Given the description of an element on the screen output the (x, y) to click on. 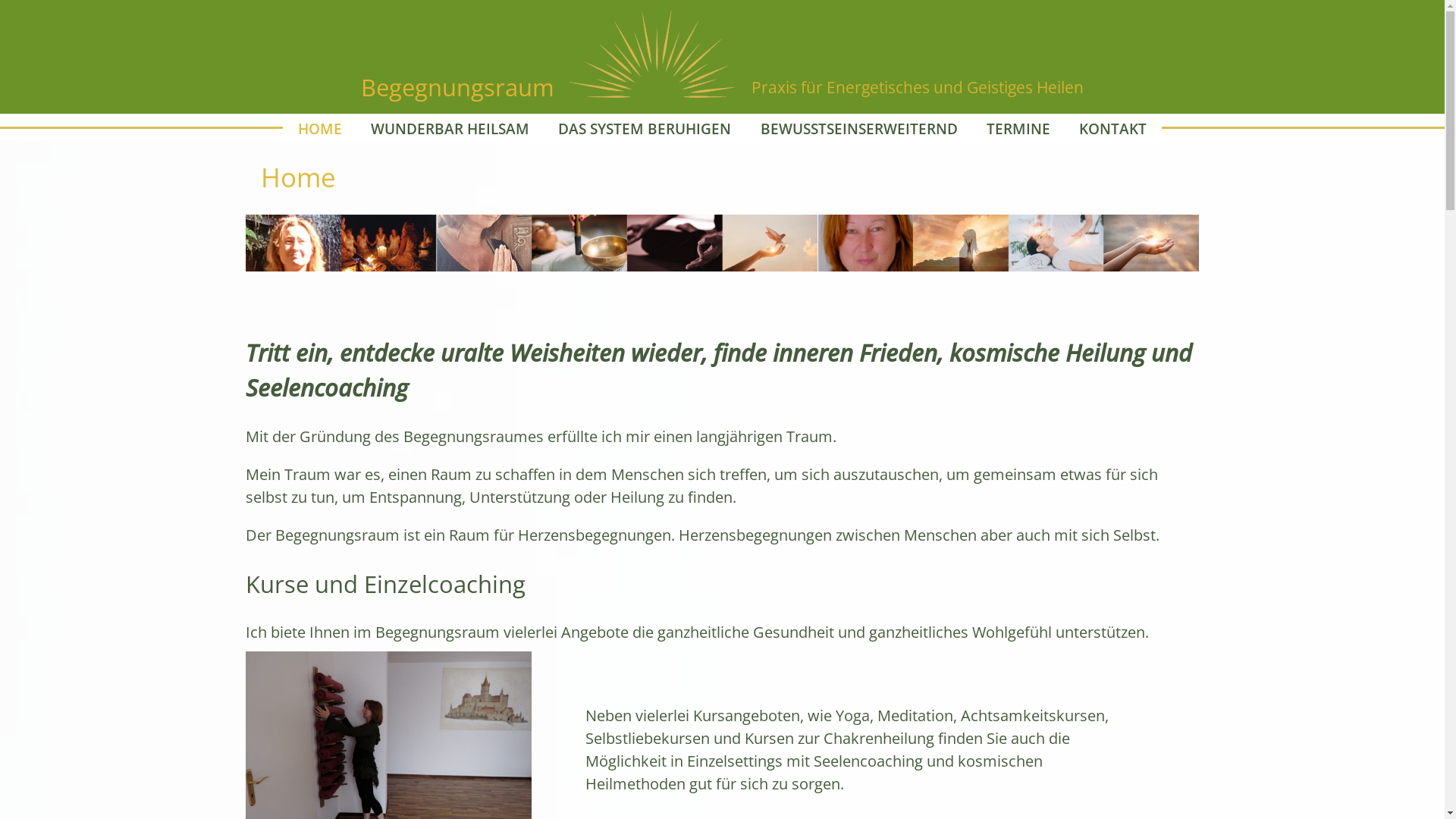
KONTAKT Element type: text (1112, 128)
WUNDERBAR HEILSAM Element type: text (449, 128)
BEWUSSTSEINSERWEITERND Element type: text (858, 128)
TERMINE Element type: text (1018, 128)
DAS SYSTEM BERUHIGEN Element type: text (644, 128)
HOME Element type: text (320, 128)
Begegnungsraum Element type: text (457, 87)
